Given the description of an element on the screen output the (x, y) to click on. 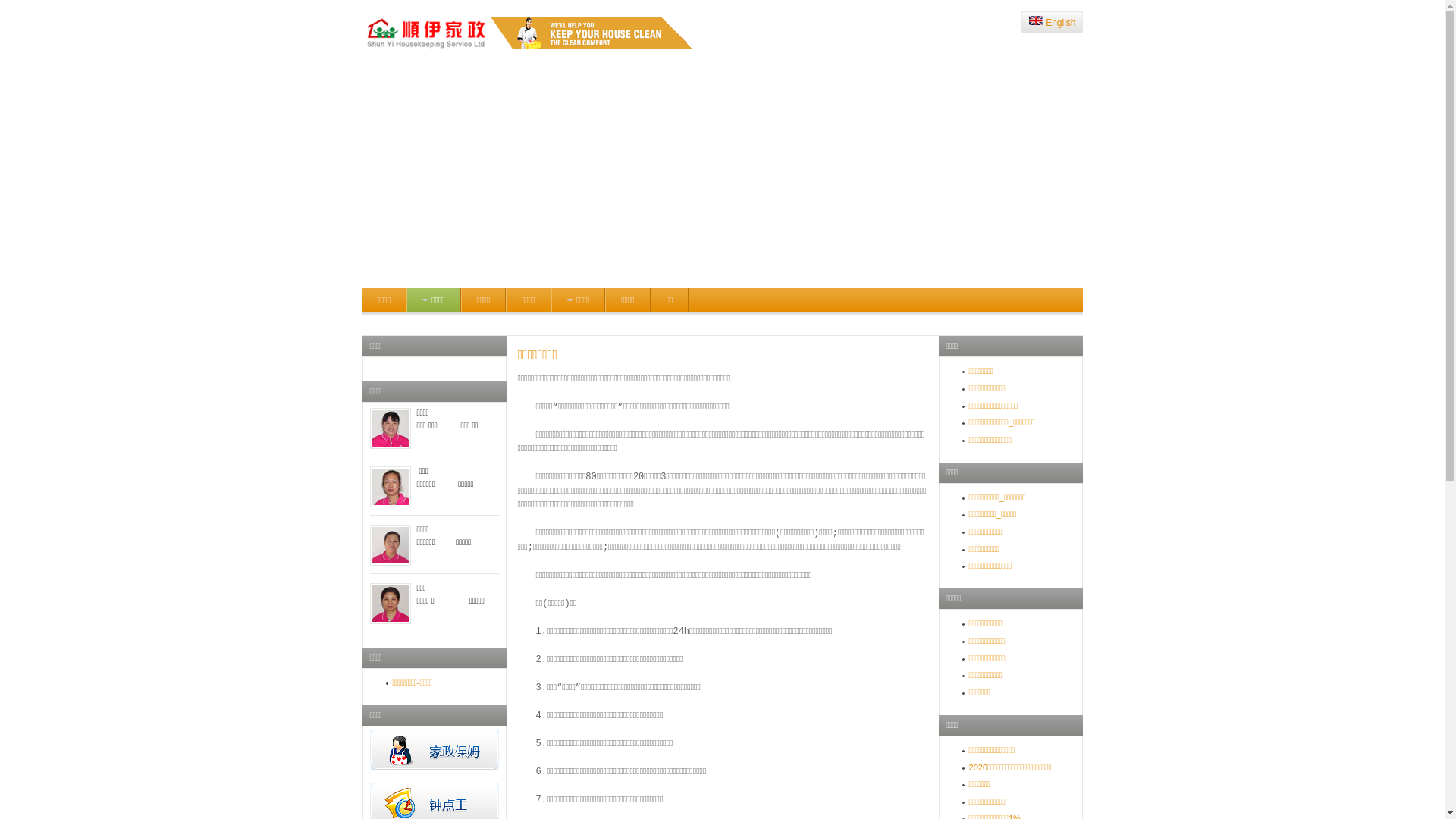
 English Element type: text (1052, 22)
Advertisement Element type: hover (722, 174)
